Given the description of an element on the screen output the (x, y) to click on. 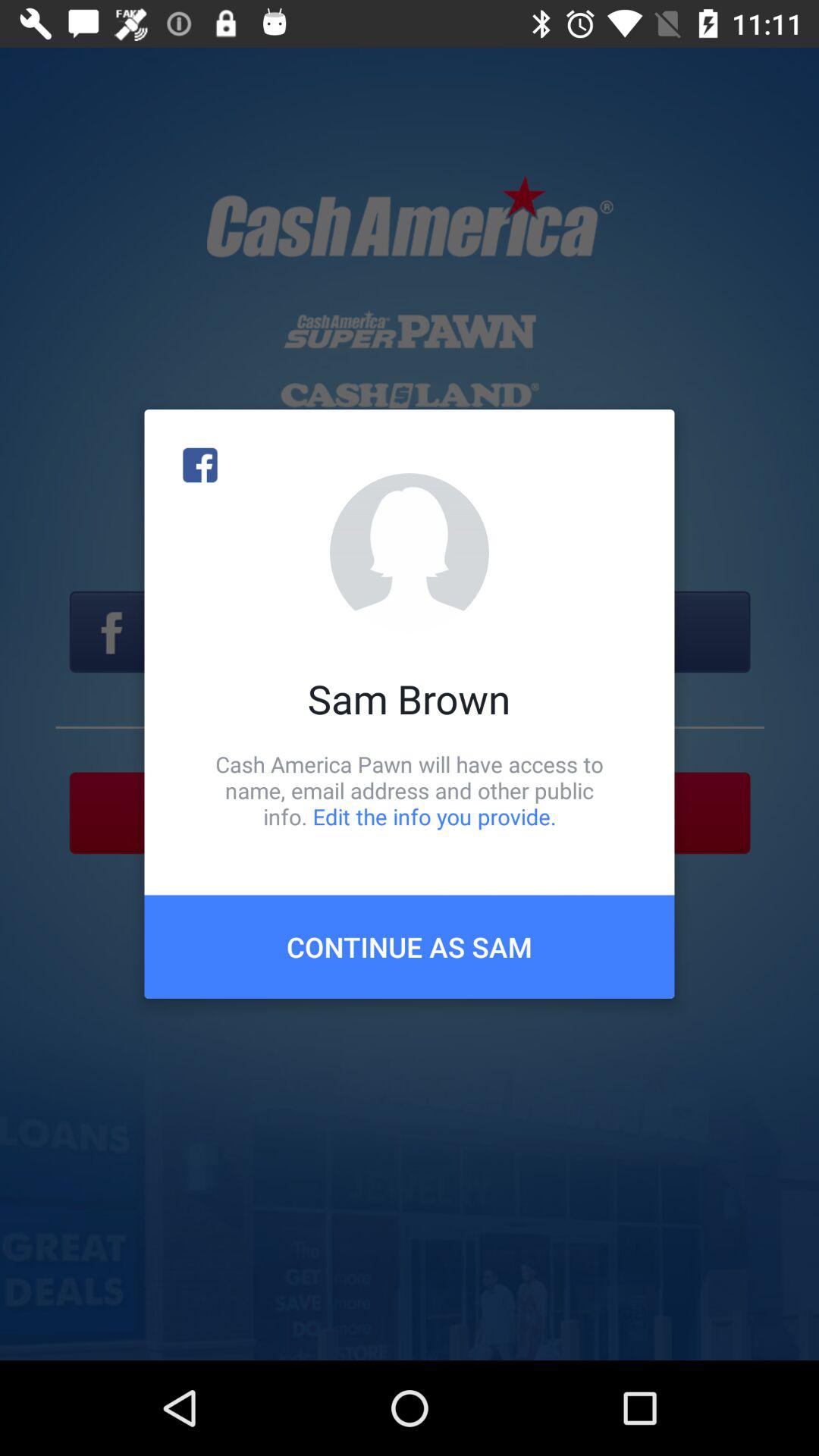
turn on the item below the sam brown item (409, 790)
